Given the description of an element on the screen output the (x, y) to click on. 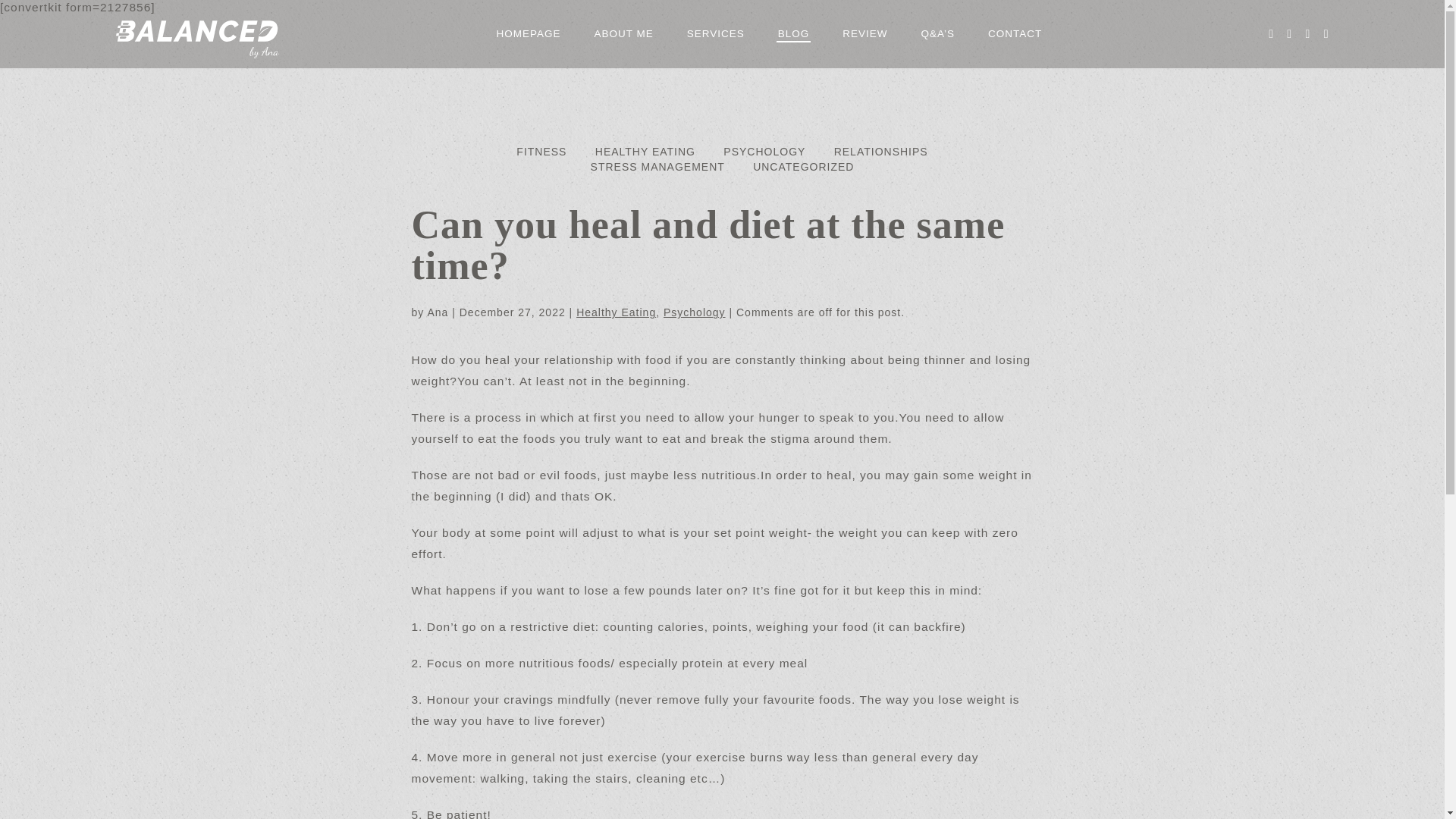
REVIEW (864, 33)
FITNESS (541, 151)
CONTACT (1015, 33)
ABOUT ME (622, 33)
PSYCHOLOGY (764, 151)
BLOG (793, 33)
SERVICES (715, 33)
UNCATEGORIZED (802, 166)
HOMEPAGE (528, 33)
HEALTHY EATING (645, 151)
